Given the description of an element on the screen output the (x, y) to click on. 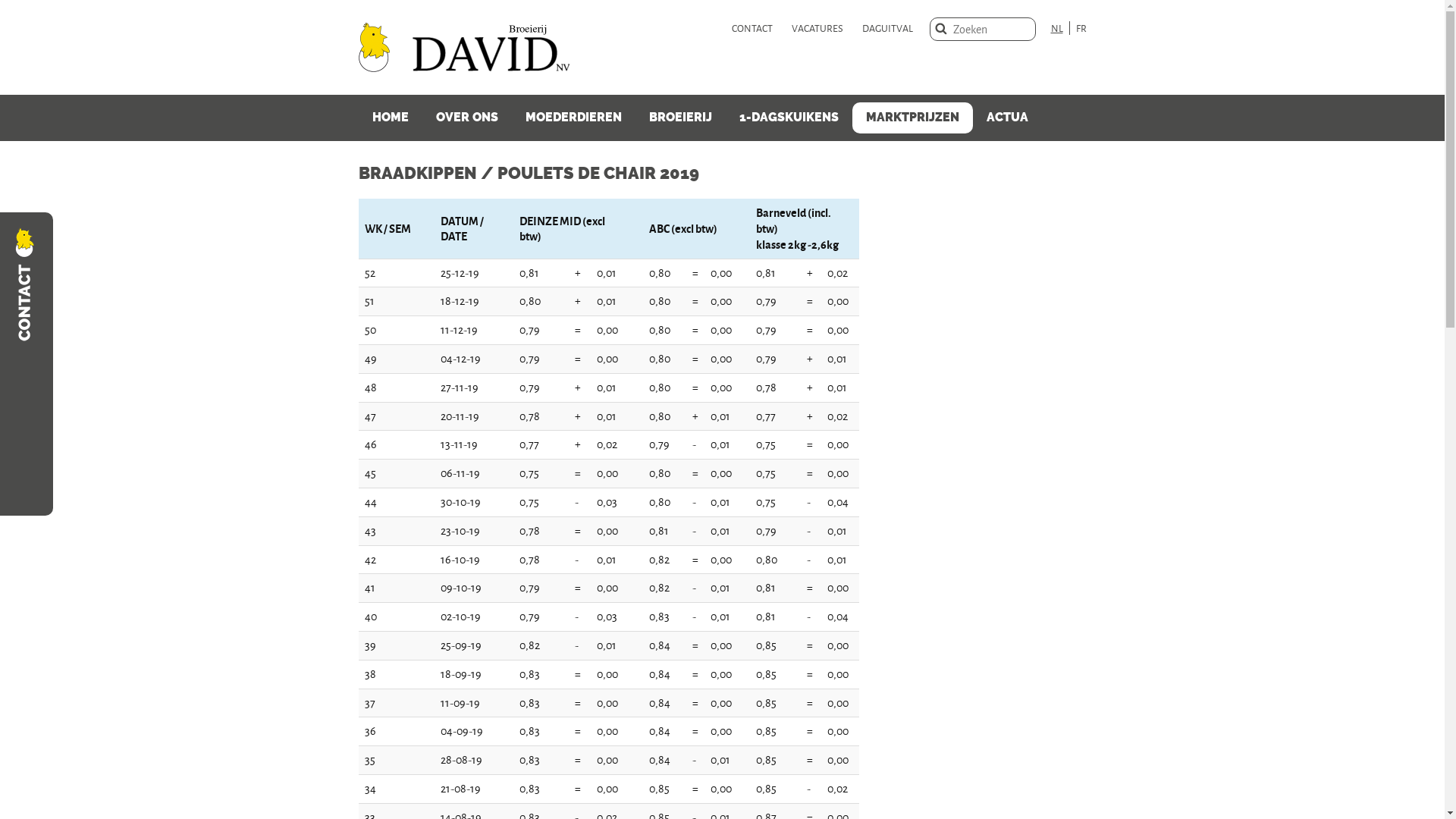
OVER ONS Element type: text (466, 117)
HOME Element type: text (389, 117)
1-DAGSKUIKENS Element type: text (787, 117)
VACATURES Element type: text (817, 27)
MOEDERDIEREN Element type: text (572, 117)
DAGUITVAL Element type: text (886, 27)
NL Element type: text (1060, 27)
FR Element type: text (1080, 27)
BROEIERIJ Element type: text (680, 117)
CONTACT Element type: text (751, 27)
ACTUA Element type: text (1006, 117)
MARKTPRIJZEN Element type: text (912, 117)
